Given the description of an element on the screen output the (x, y) to click on. 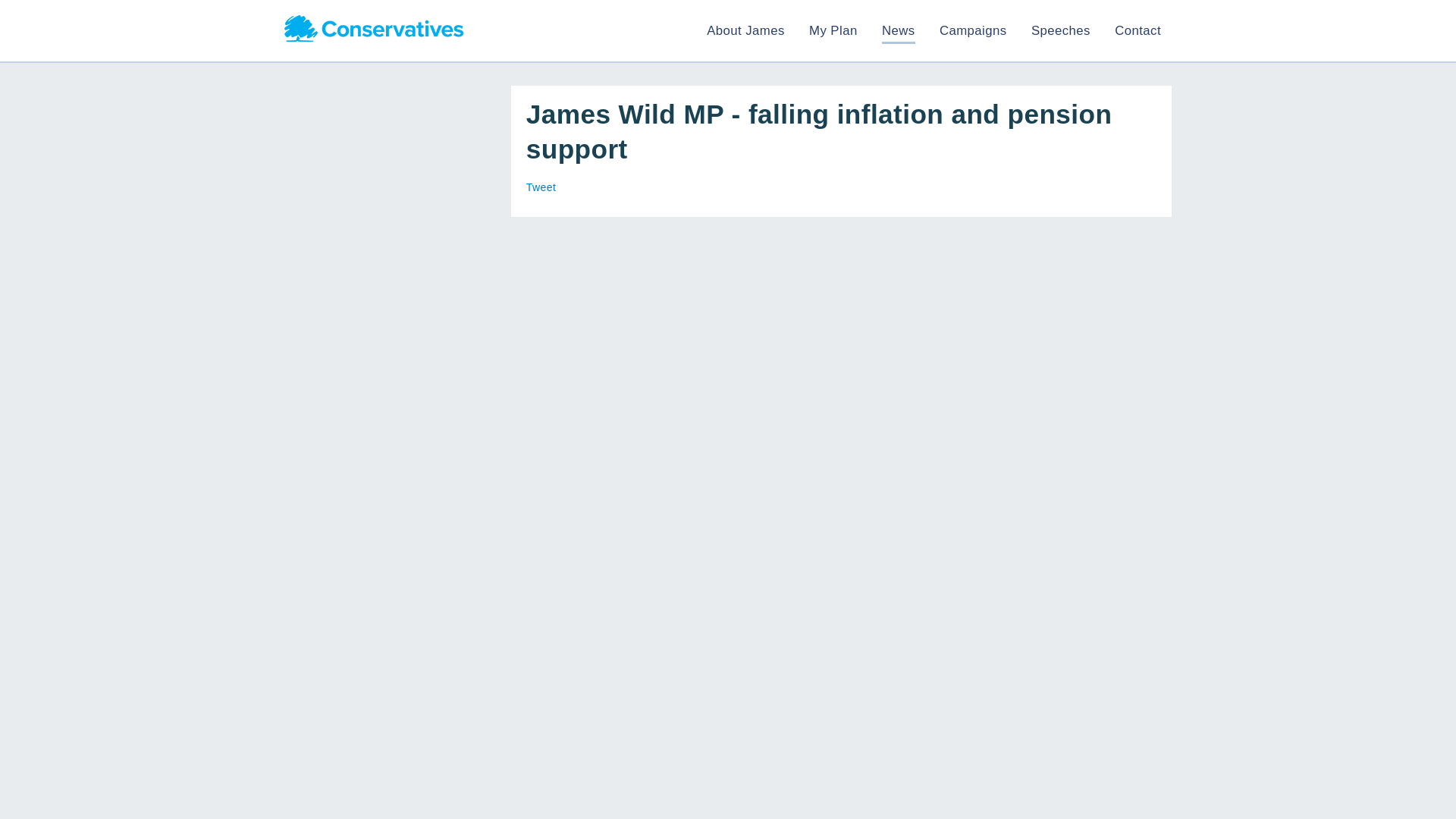
Tweet (540, 186)
News (898, 30)
Speeches (1060, 30)
About James (745, 30)
Campaigns (973, 30)
Parliamentary speeches by James Wild MP (1060, 30)
My Plan (833, 30)
Contact (1137, 30)
